Given the description of an element on the screen output the (x, y) to click on. 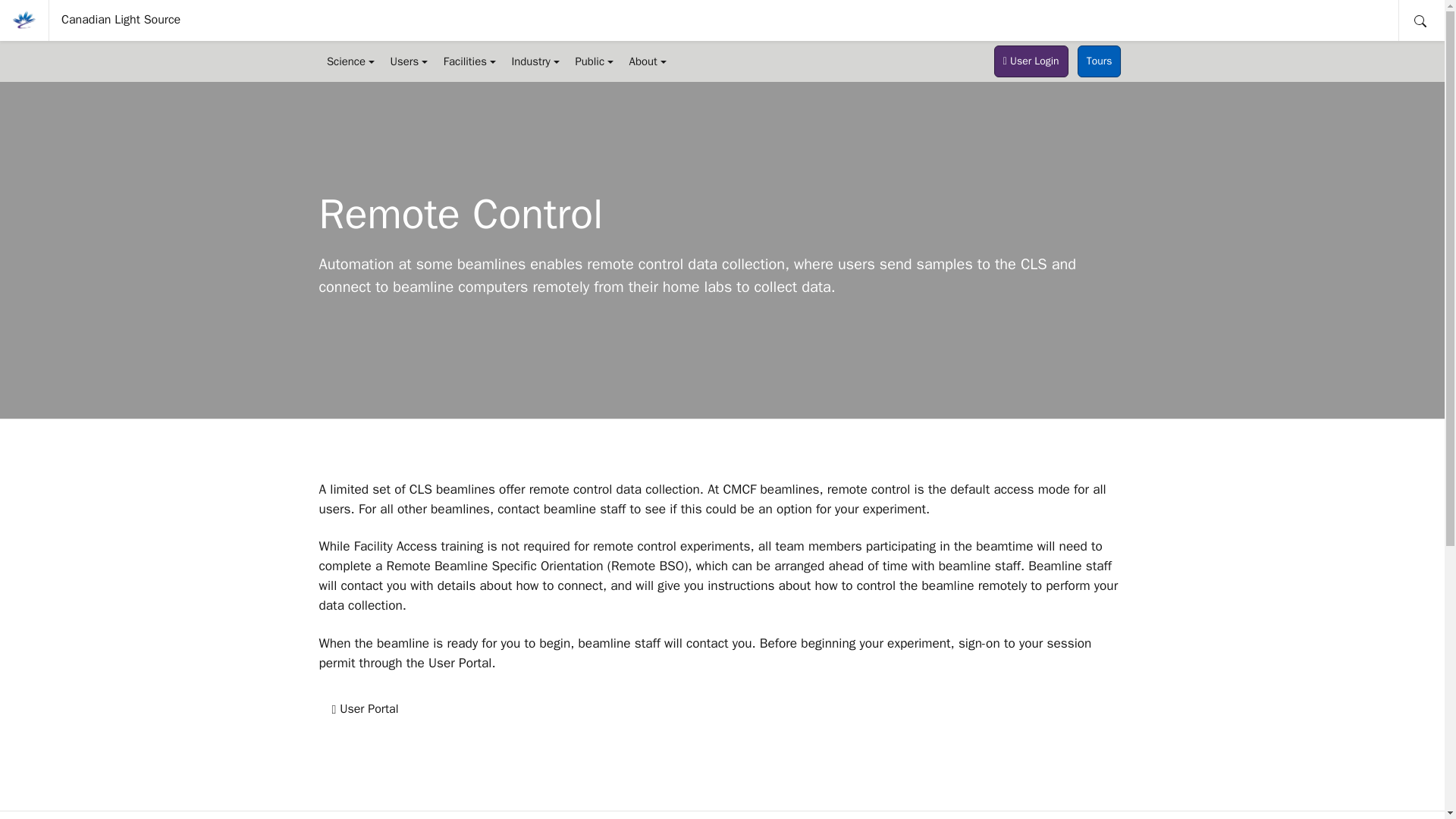
Canadian Light Source (120, 20)
Users (408, 60)
Public (594, 60)
Facilities (469, 60)
Industry (535, 60)
Science (349, 60)
